Given the description of an element on the screen output the (x, y) to click on. 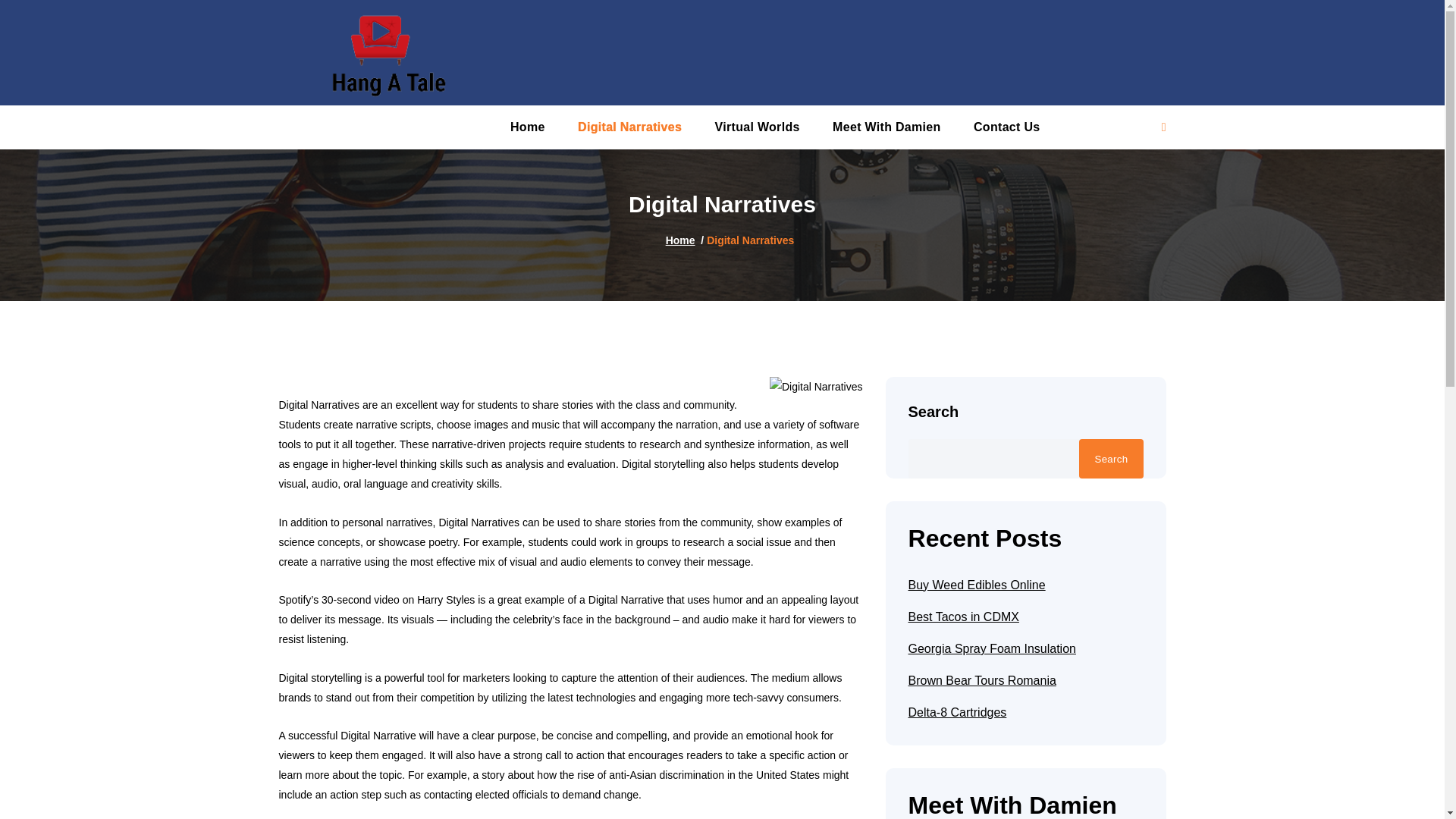
Home (527, 127)
Delta-8 Cartridges (957, 712)
Buy Weed Edibles Online (976, 585)
Digital Narratives (630, 127)
Meet With Damien (886, 127)
Contact Us (1005, 127)
Brown Bear Tours Romania (982, 680)
Home (680, 240)
Home (527, 127)
Contact Us (1005, 127)
Search (1110, 457)
Georgia Spray Foam Insulation (991, 649)
Meet With Damien (886, 127)
Skip to content (9, 19)
Contact Us (1163, 127)
